Given the description of an element on the screen output the (x, y) to click on. 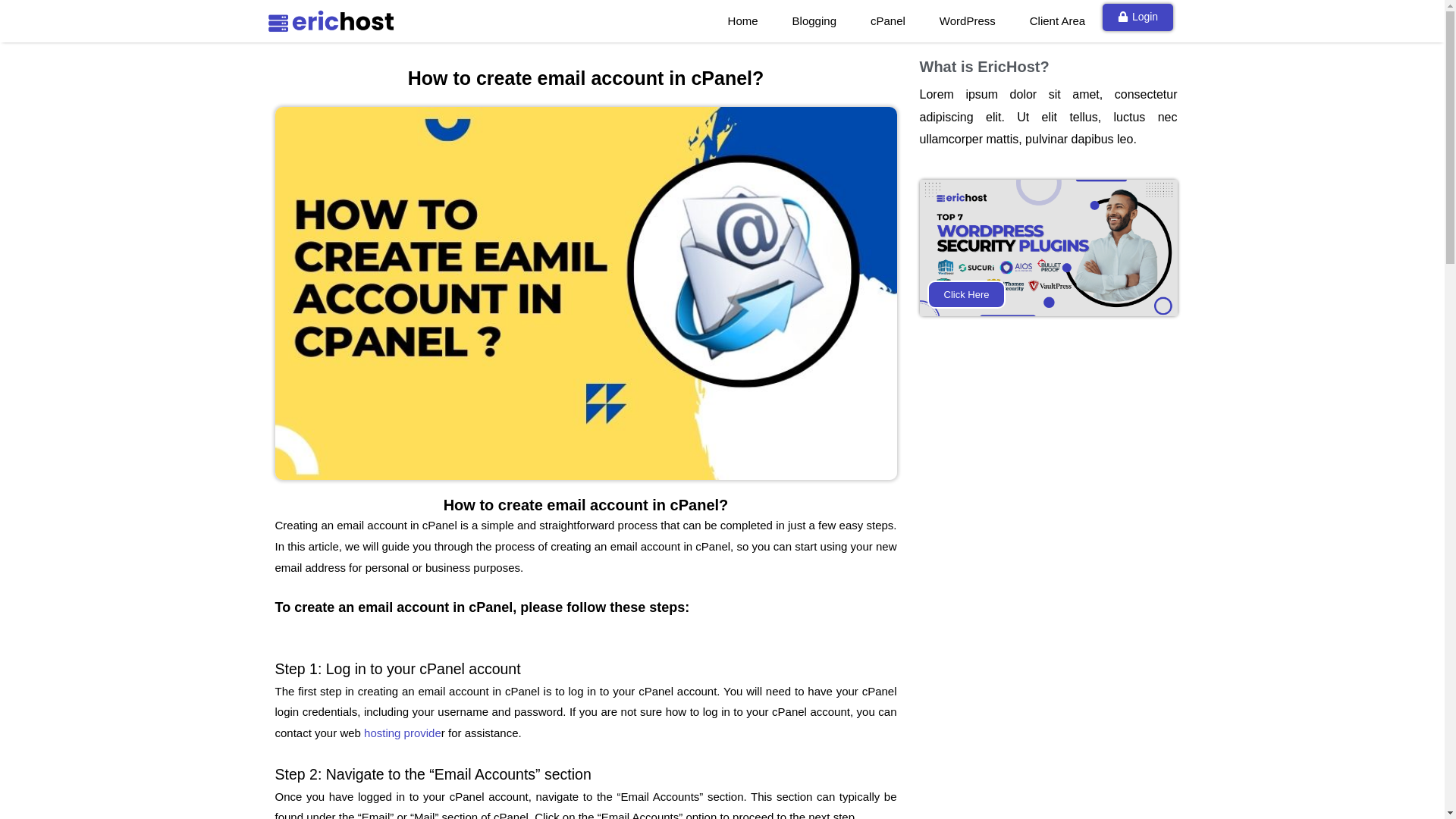
Blogging (814, 21)
Login (1137, 17)
cPanel (888, 21)
Home (743, 21)
hosting provide (402, 732)
Client Area (1057, 21)
Click Here (1047, 247)
WordPress (967, 21)
